Given the description of an element on the screen output the (x, y) to click on. 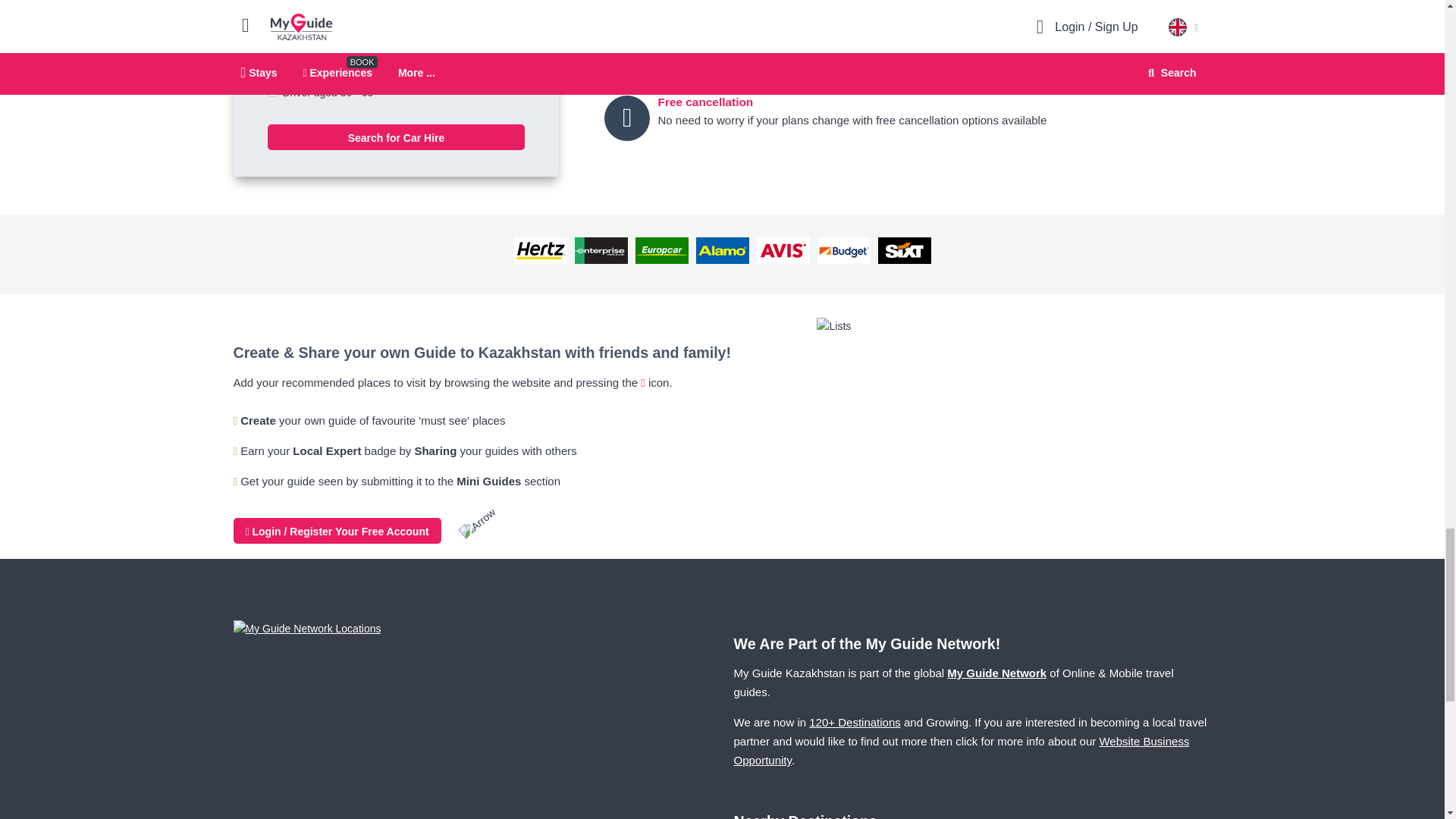
on (271, 91)
